Given the description of an element on the screen output the (x, y) to click on. 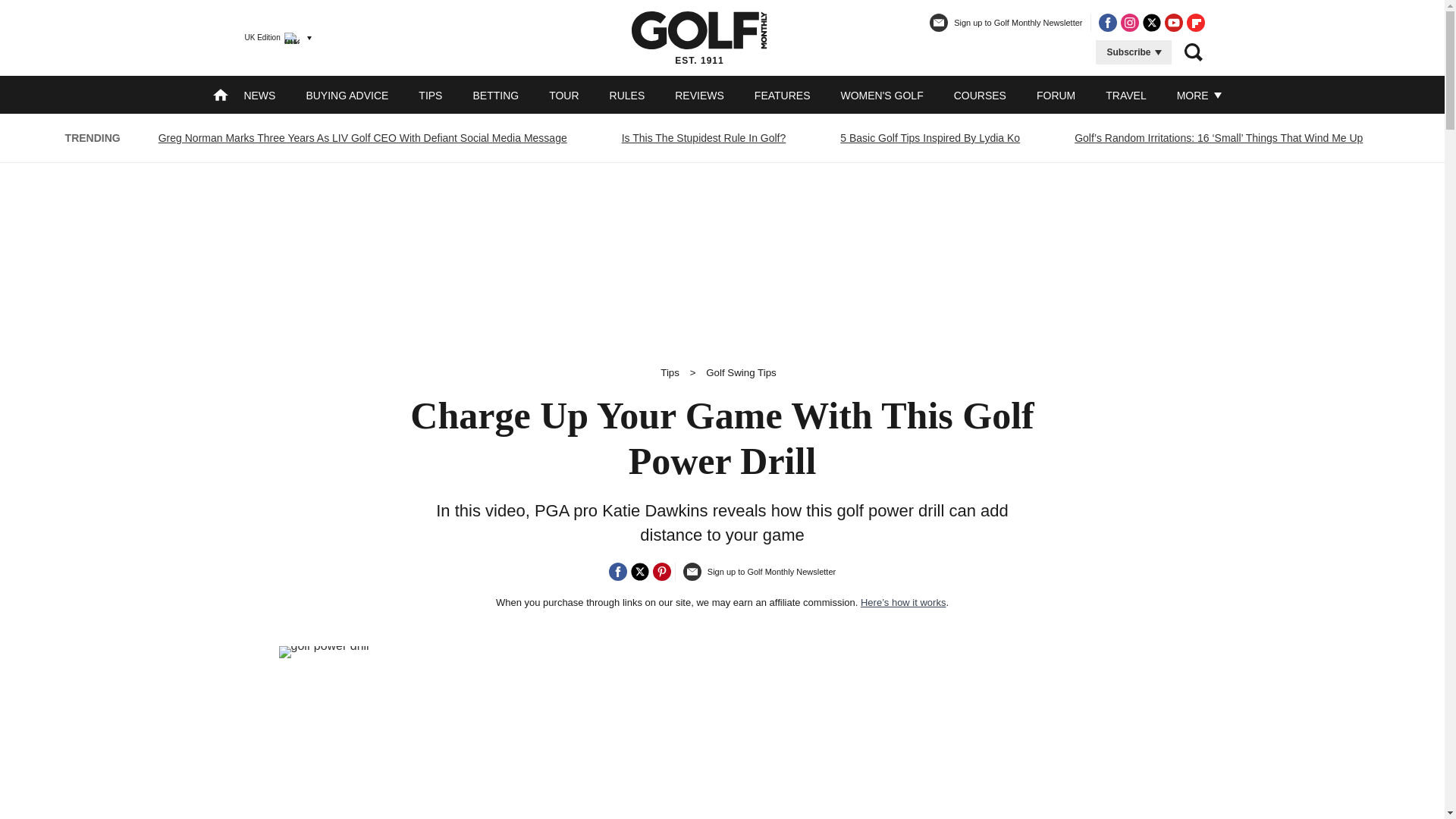
EST. 1911 (699, 37)
WOMEN'S GOLF (881, 95)
Tips (670, 372)
Golf Swing Tips (741, 372)
5 Basic Golf Tips Inspired By Lydia Ko (929, 137)
NEWS (259, 95)
BETTING (494, 95)
TOUR (563, 95)
Is This The Stupidest Rule In Golf? (703, 137)
